Given the description of an element on the screen output the (x, y) to click on. 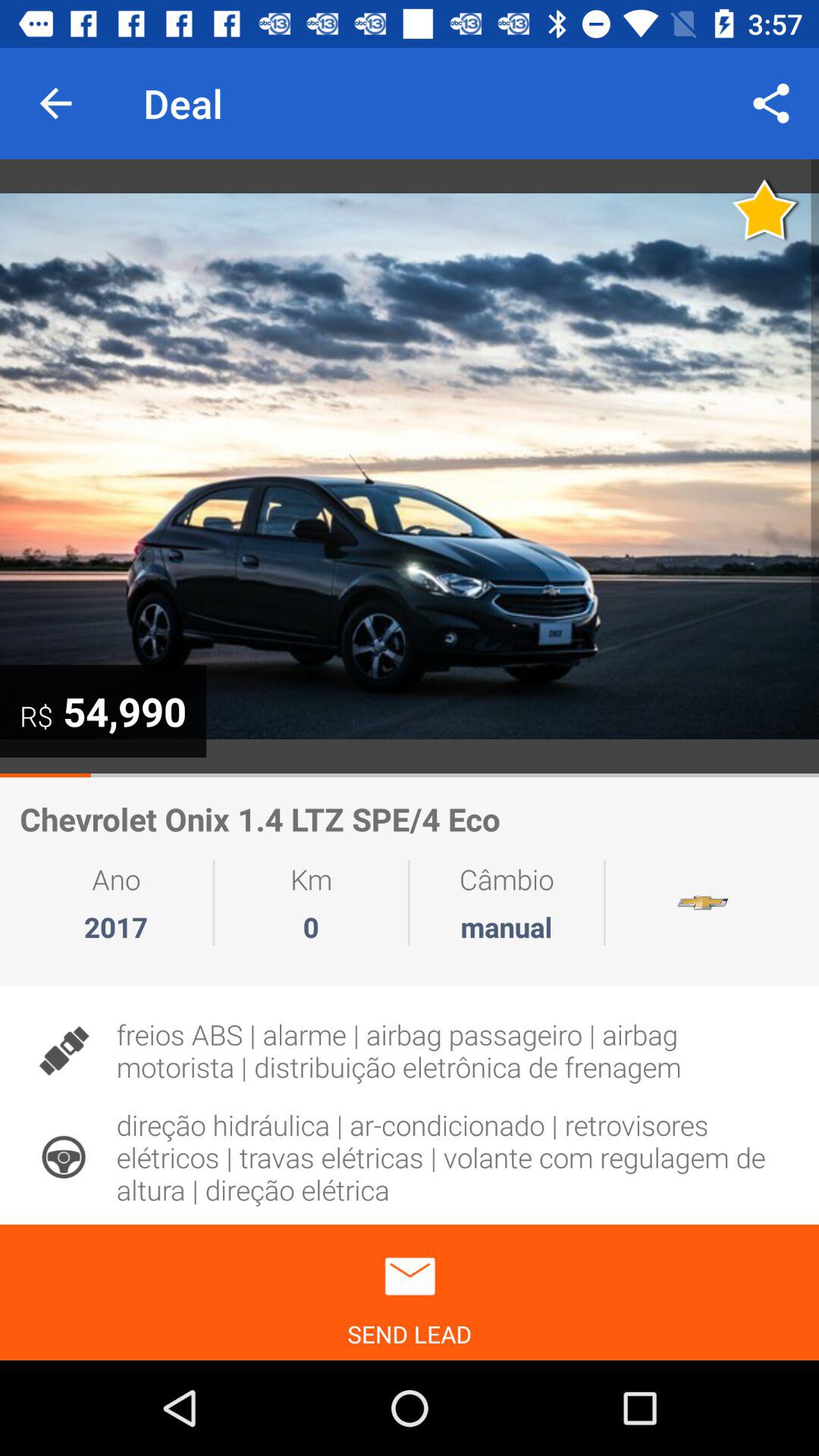
turn on the item next to the deal item (771, 103)
